Given the description of an element on the screen output the (x, y) to click on. 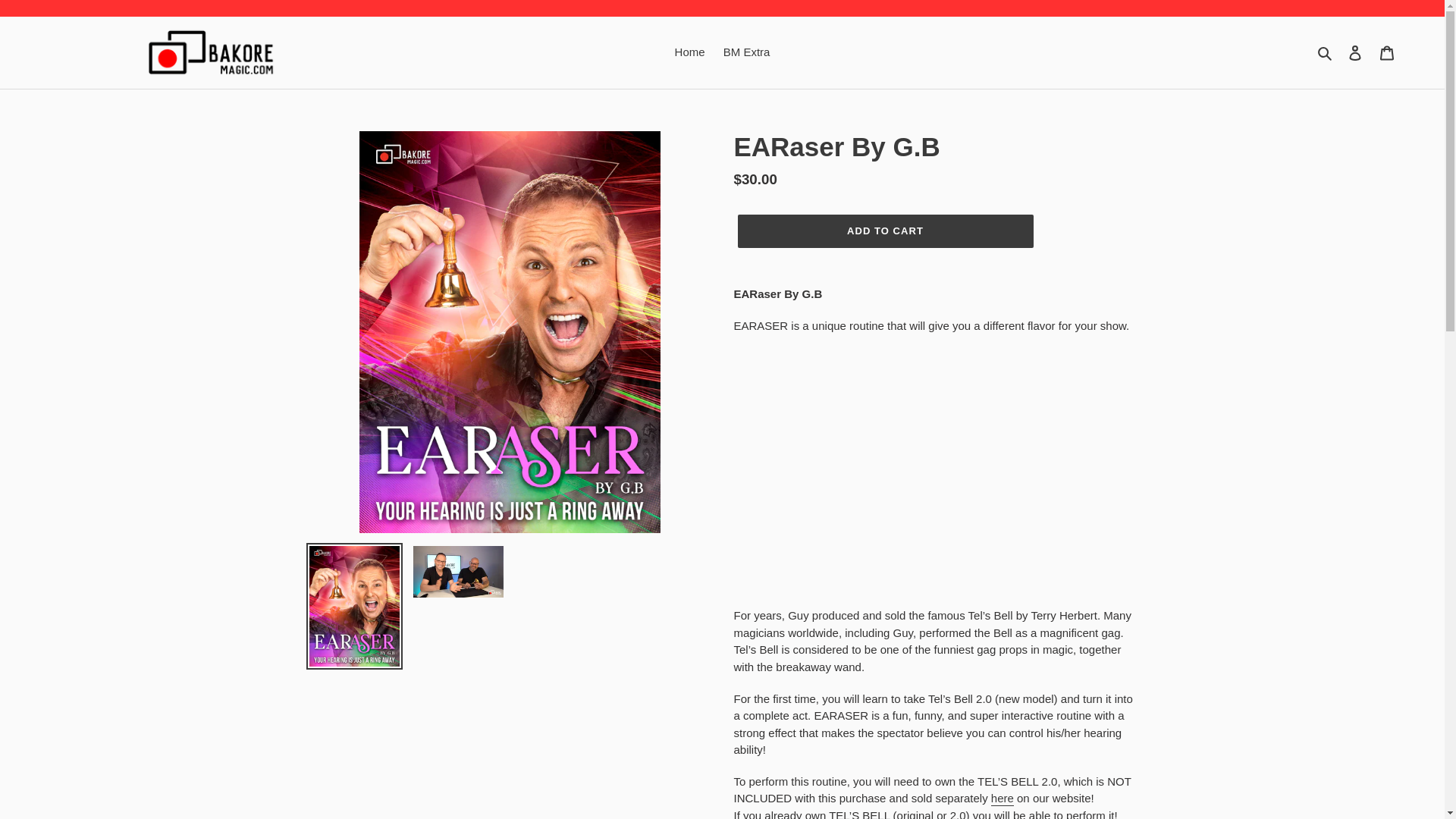
ADD TO CART (884, 231)
Log in (1355, 52)
Home (689, 52)
Cart (1387, 52)
Search (1326, 52)
BM Extra (746, 52)
here (1002, 798)
